Given the description of an element on the screen output the (x, y) to click on. 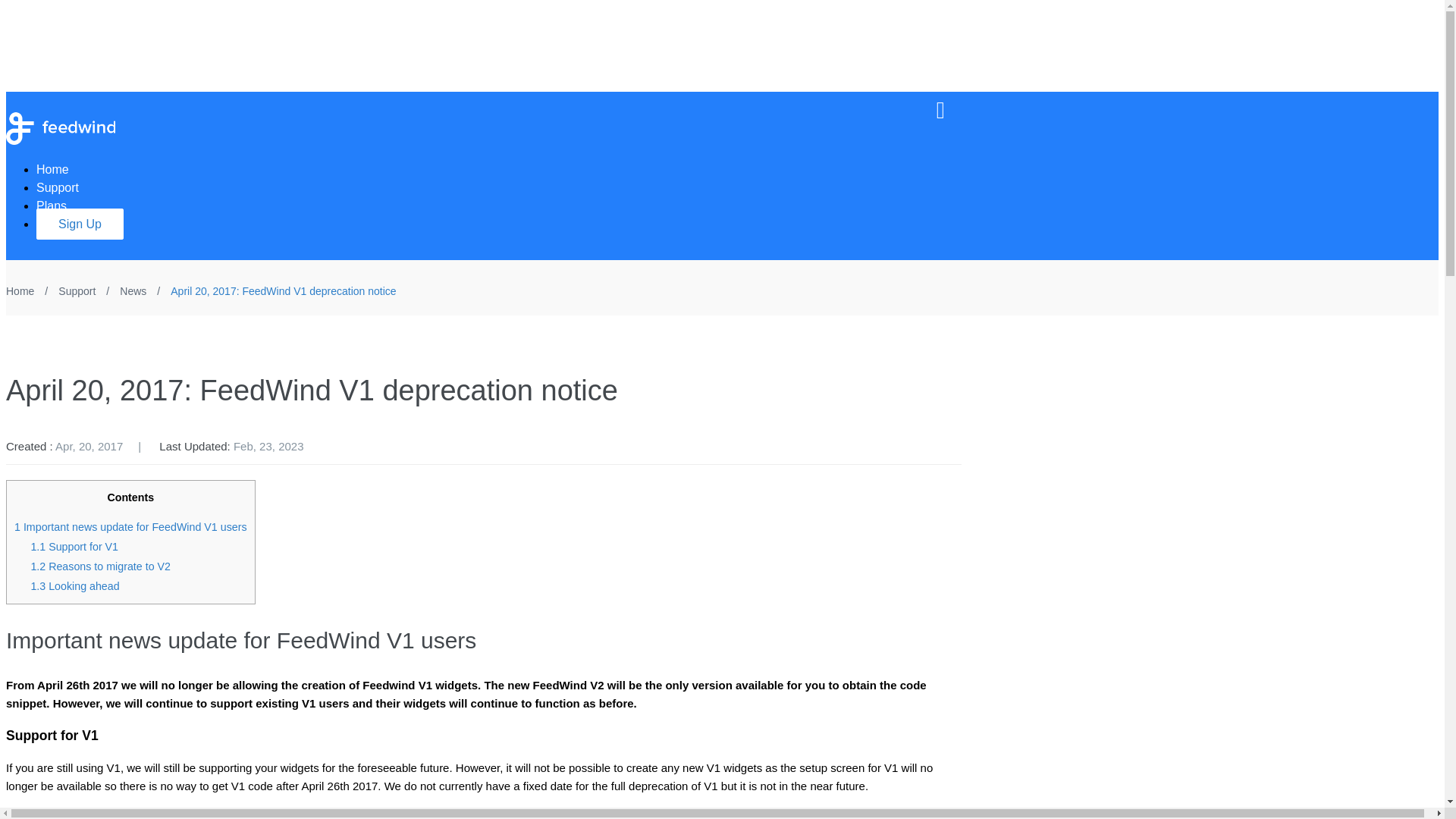
Support (77, 291)
1 Important news update for FeedWind V1 users (130, 526)
Support (65, 187)
Home (60, 169)
Plans (58, 205)
Home (19, 291)
News (134, 291)
Sign Up (79, 223)
1.3 Looking ahead (74, 585)
1.2 Reasons to migrate to V2 (100, 566)
1.1 Support for V1 (73, 546)
April 20, 2017: FeedWind V1 deprecation notice (283, 291)
